Given the description of an element on the screen output the (x, y) to click on. 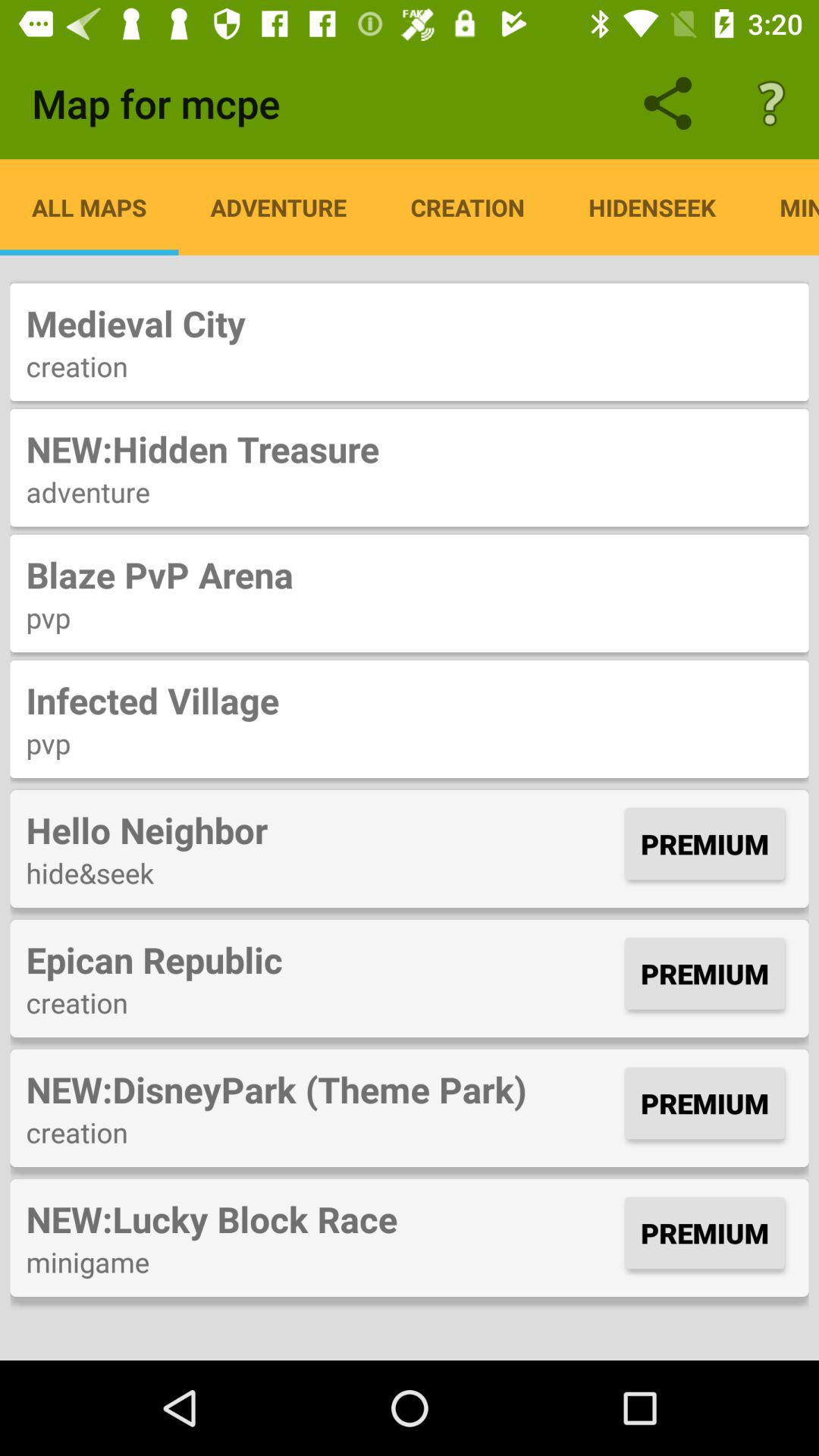
jump to the hidenseek icon (651, 207)
